Given the description of an element on the screen output the (x, y) to click on. 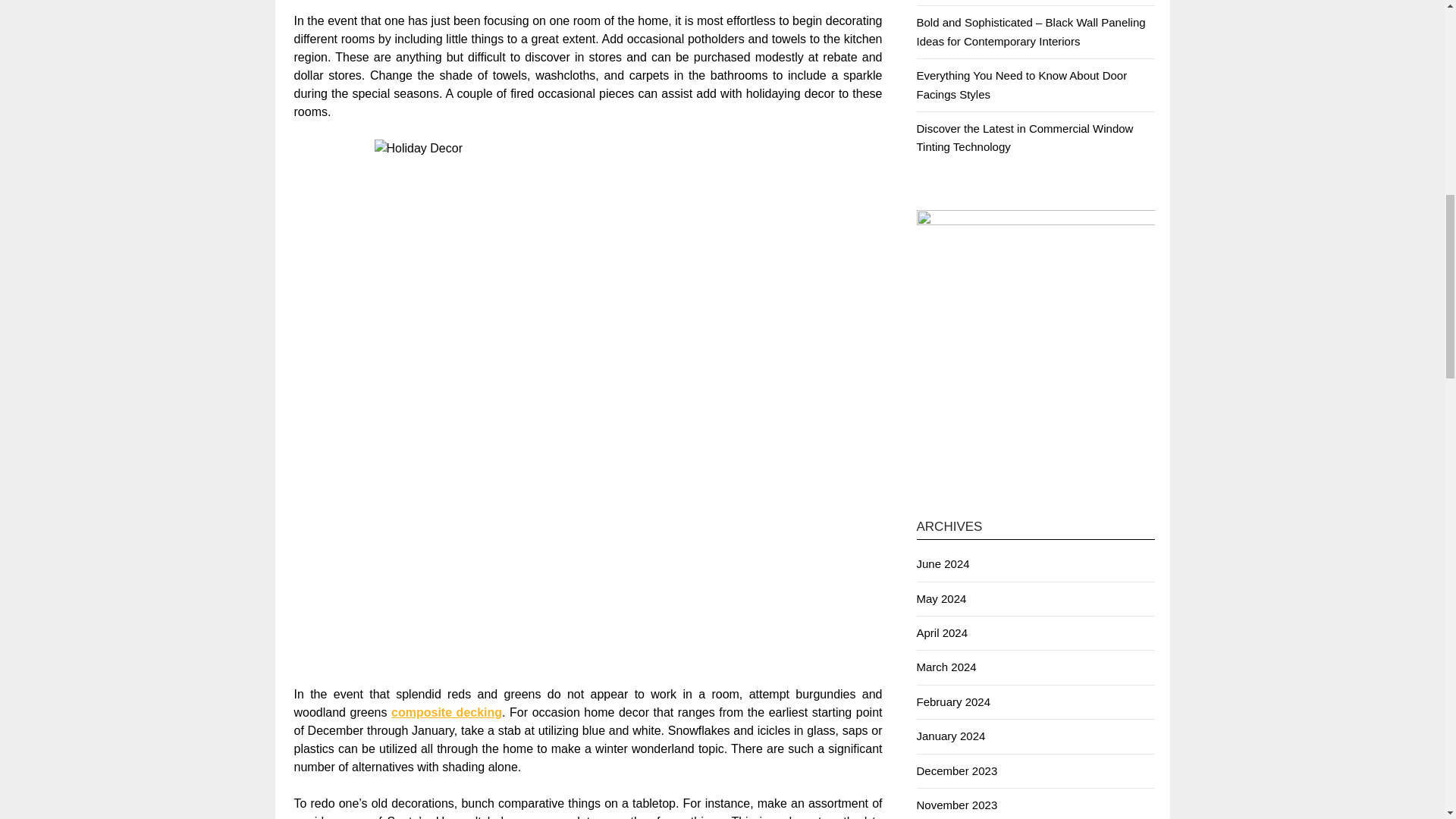
April 2024 (941, 632)
June 2024 (942, 563)
Discover the Latest in Commercial Window Tinting Technology (1023, 137)
March 2024 (945, 666)
February 2024 (952, 701)
May 2024 (940, 598)
December 2023 (956, 770)
Everything You Need to Know About Door Facings Styles (1020, 83)
composite decking (446, 712)
November 2023 (956, 804)
